Given the description of an element on the screen output the (x, y) to click on. 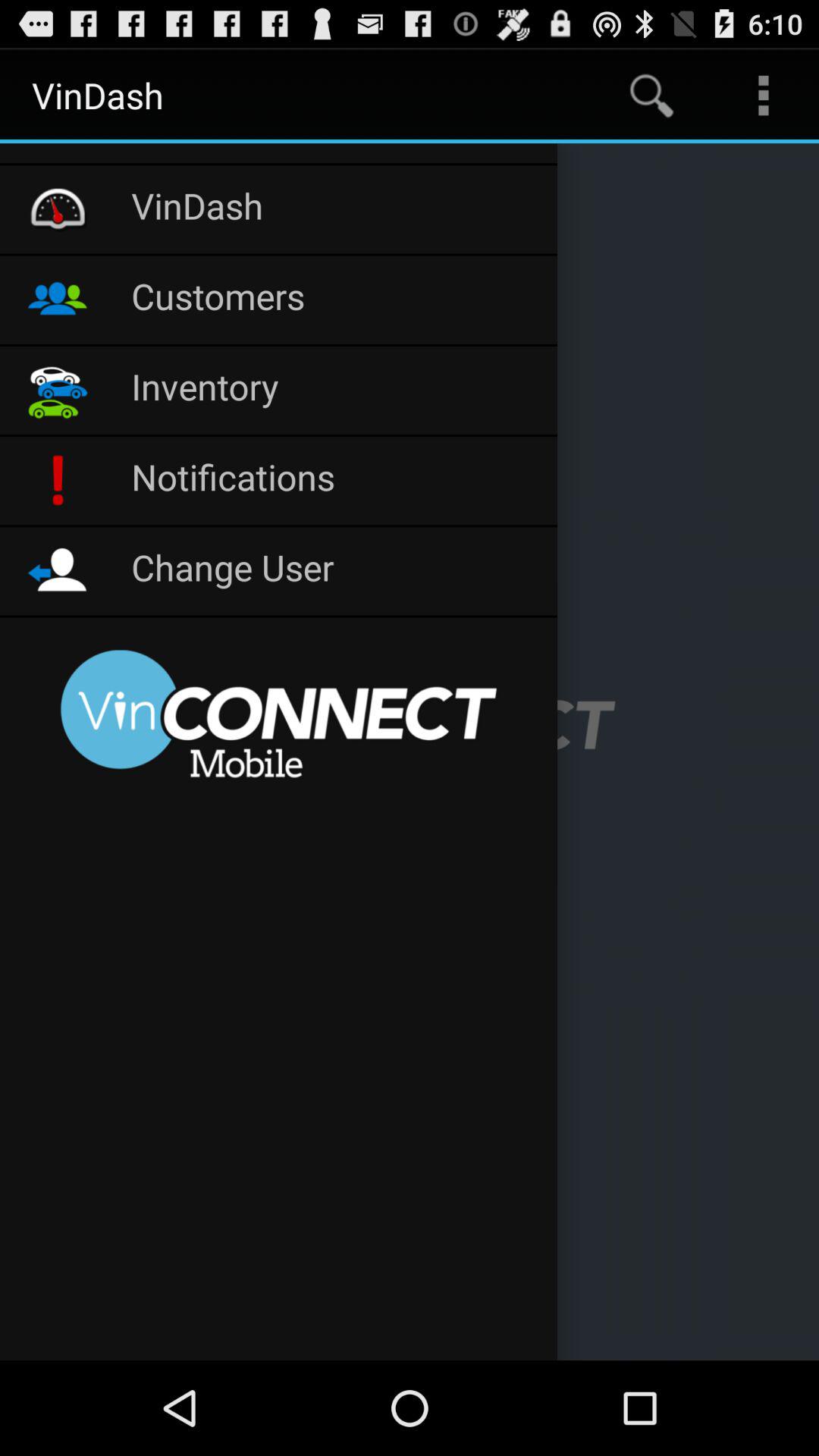
launch item above the notifications app (336, 389)
